Given the description of an element on the screen output the (x, y) to click on. 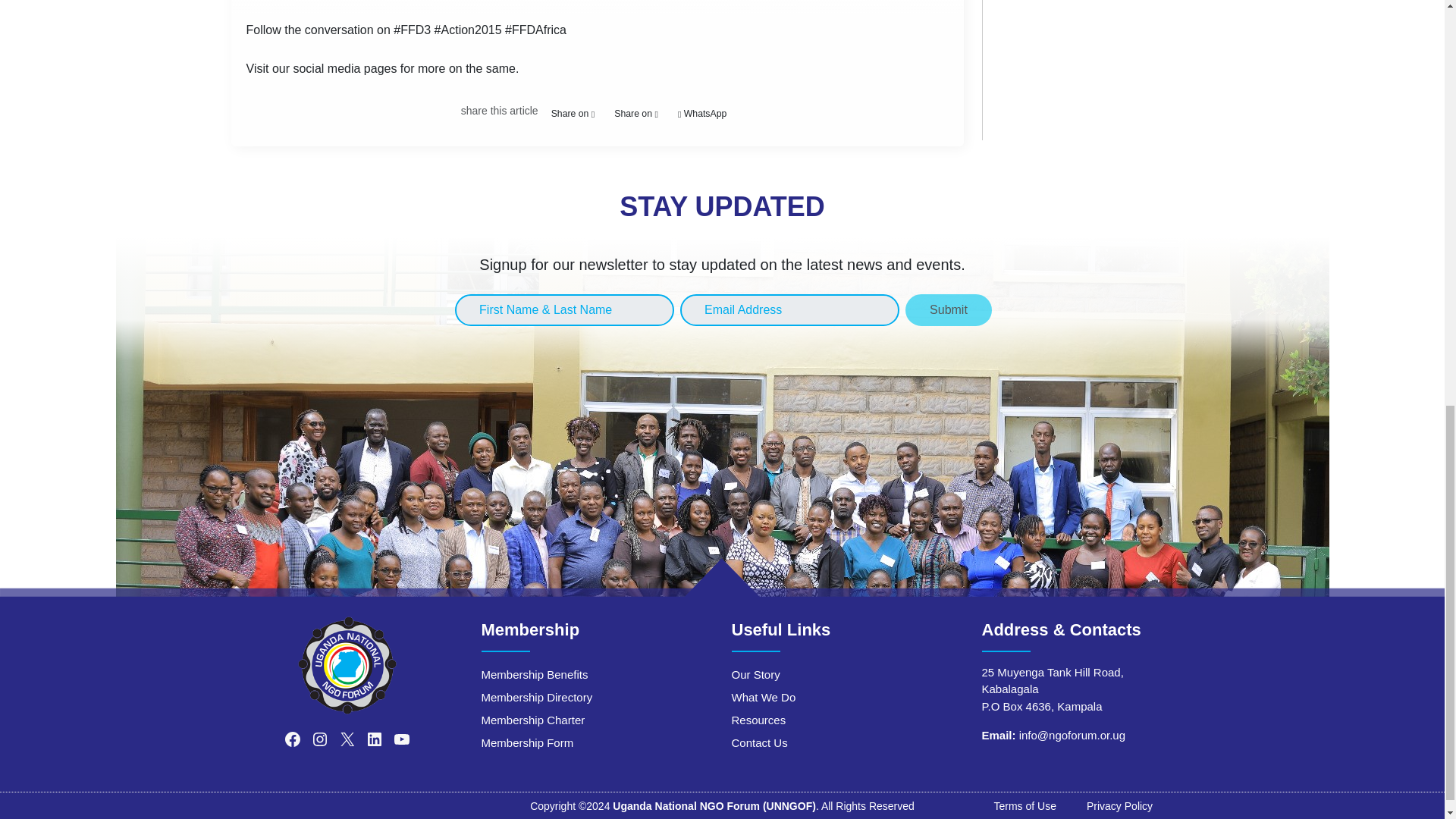
Twitter (636, 113)
WhatsApp (702, 113)
Facebook (573, 113)
